Given the description of an element on the screen output the (x, y) to click on. 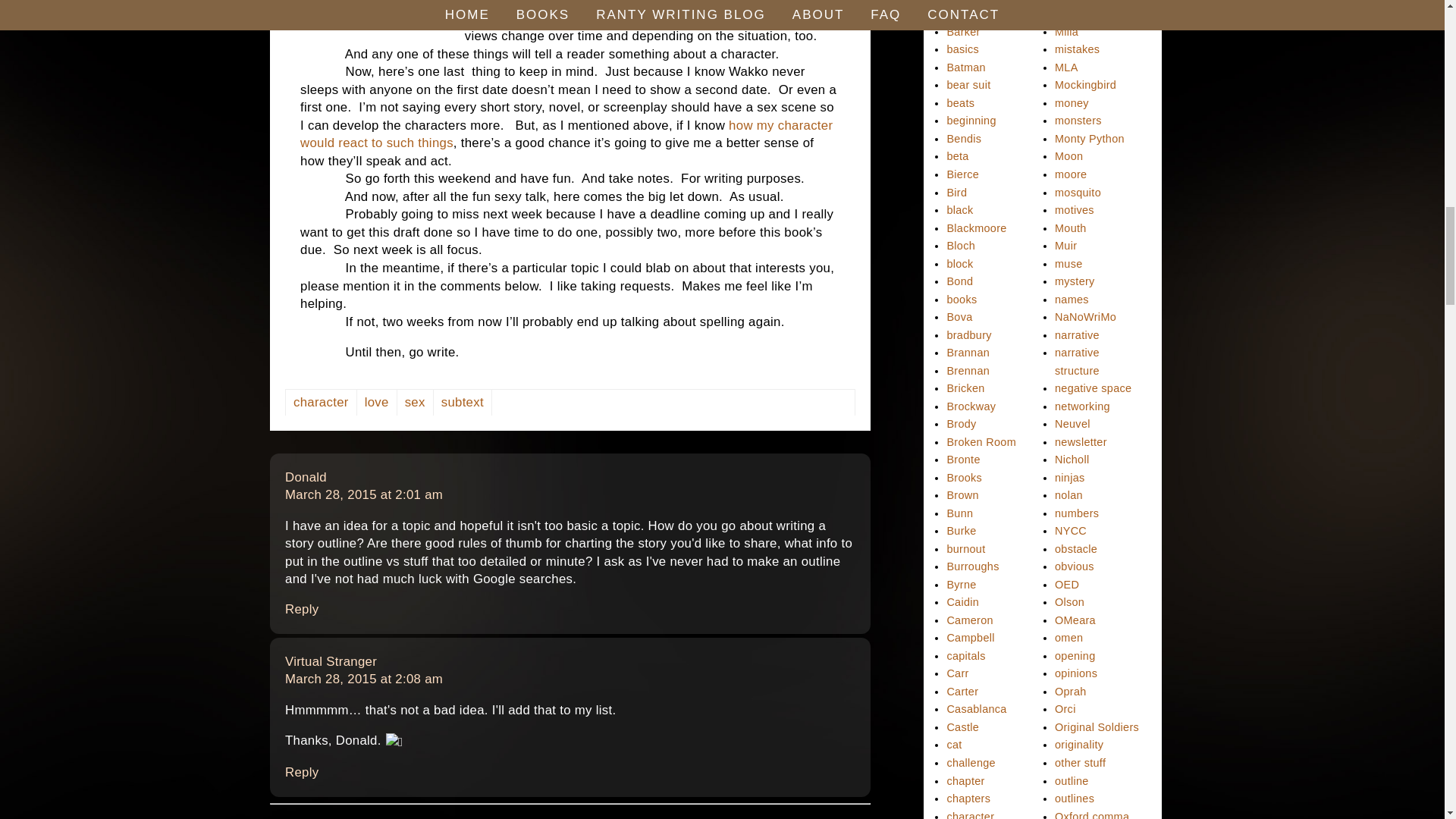
March 28, 2015 at 2:01 am (363, 494)
sex (415, 402)
how my character would react to such things (565, 133)
Reply (301, 771)
subtext (462, 402)
Reply (301, 771)
character (320, 402)
March 28, 2015 at 2:08 am (363, 678)
Reply (301, 608)
love (376, 402)
March 28, 2015 at 2:01 am (331, 661)
Reply (363, 494)
March 28, 2015 at 2:08 am (305, 477)
